Given the description of an element on the screen output the (x, y) to click on. 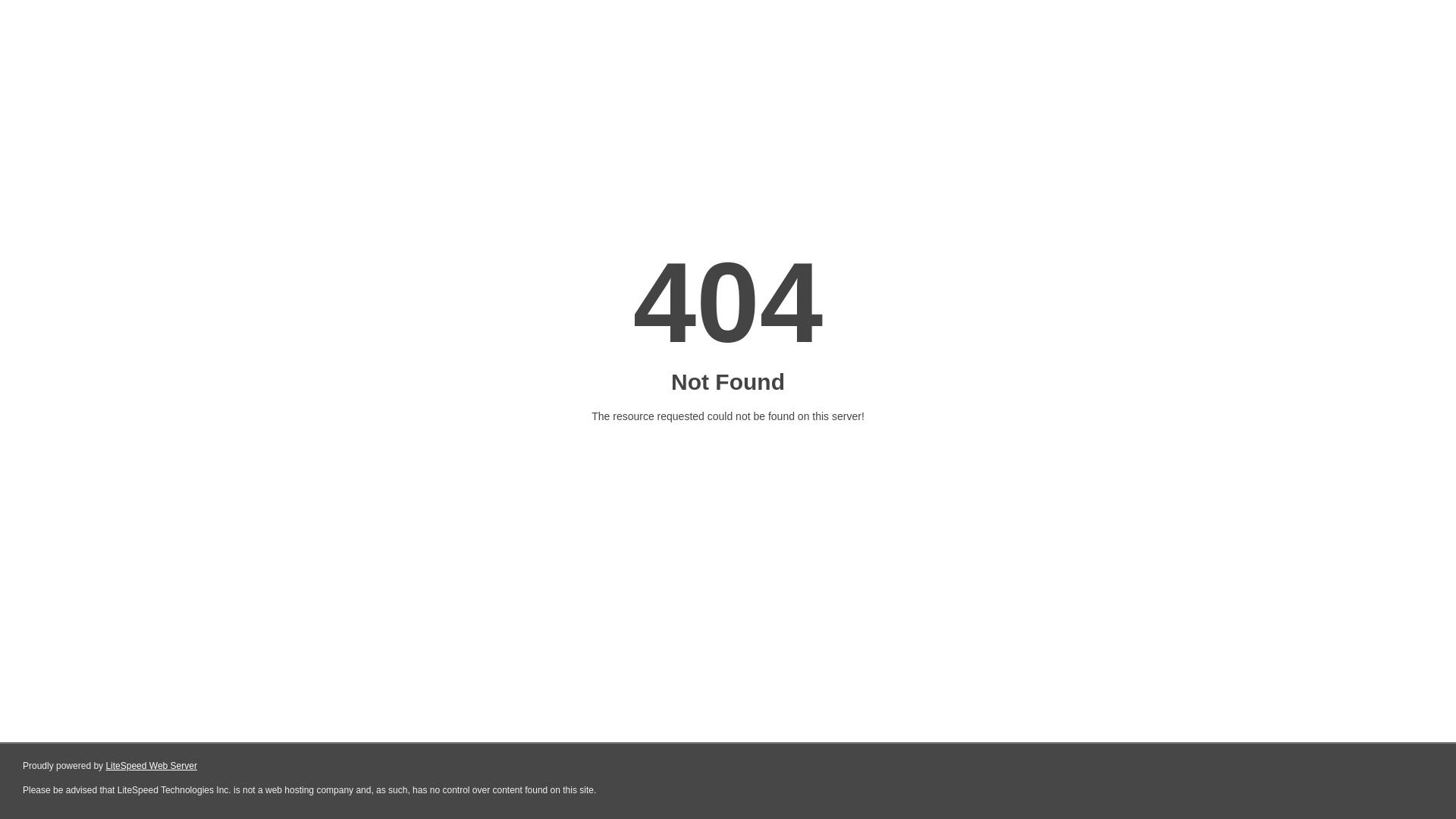
LiteSpeed Web Server Element type: text (151, 765)
